Given the description of an element on the screen output the (x, y) to click on. 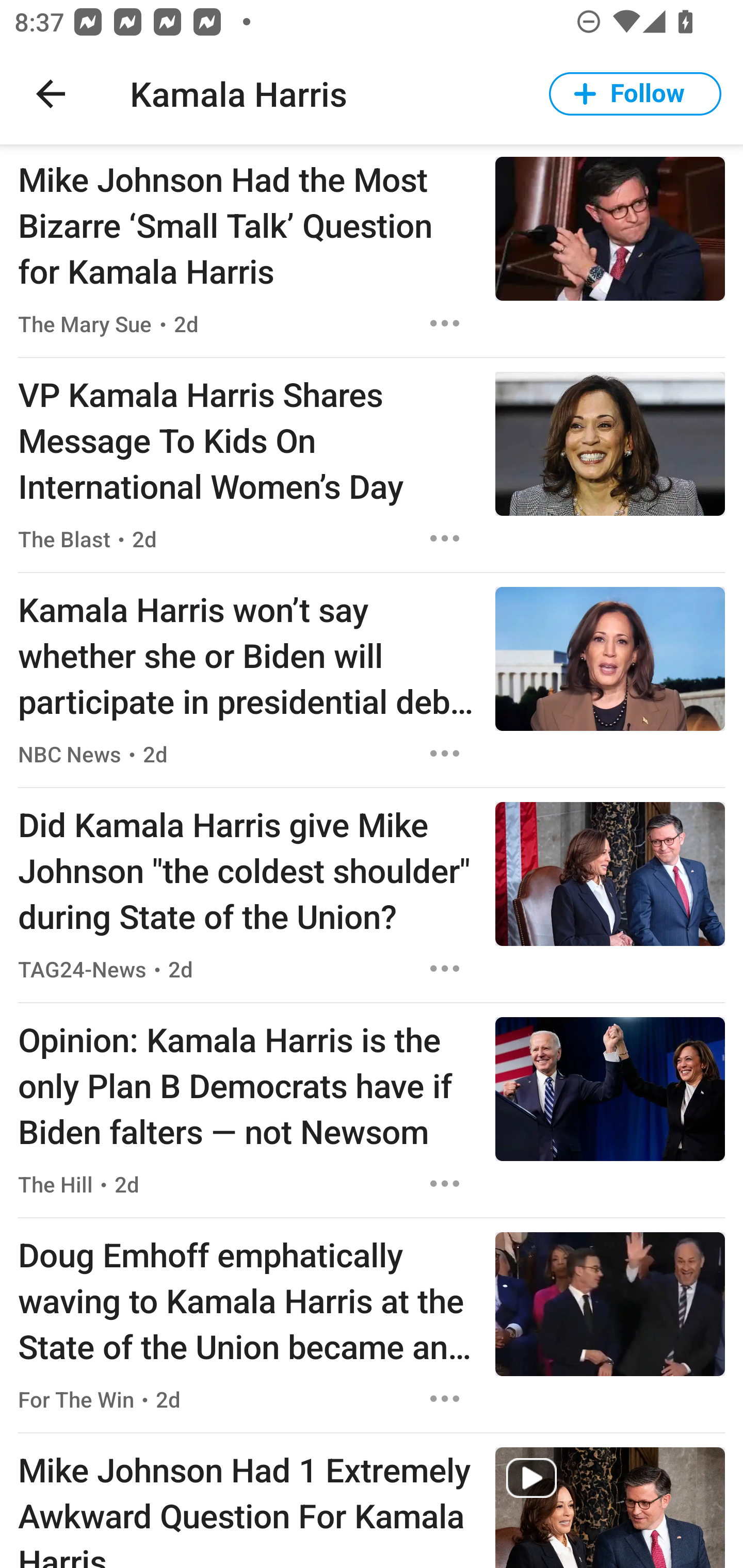
Navigate up (50, 93)
Follow (635, 94)
Options (444, 322)
Options (444, 538)
Options (444, 753)
Options (444, 968)
Options (444, 1183)
Options (444, 1398)
